Given the description of an element on the screen output the (x, y) to click on. 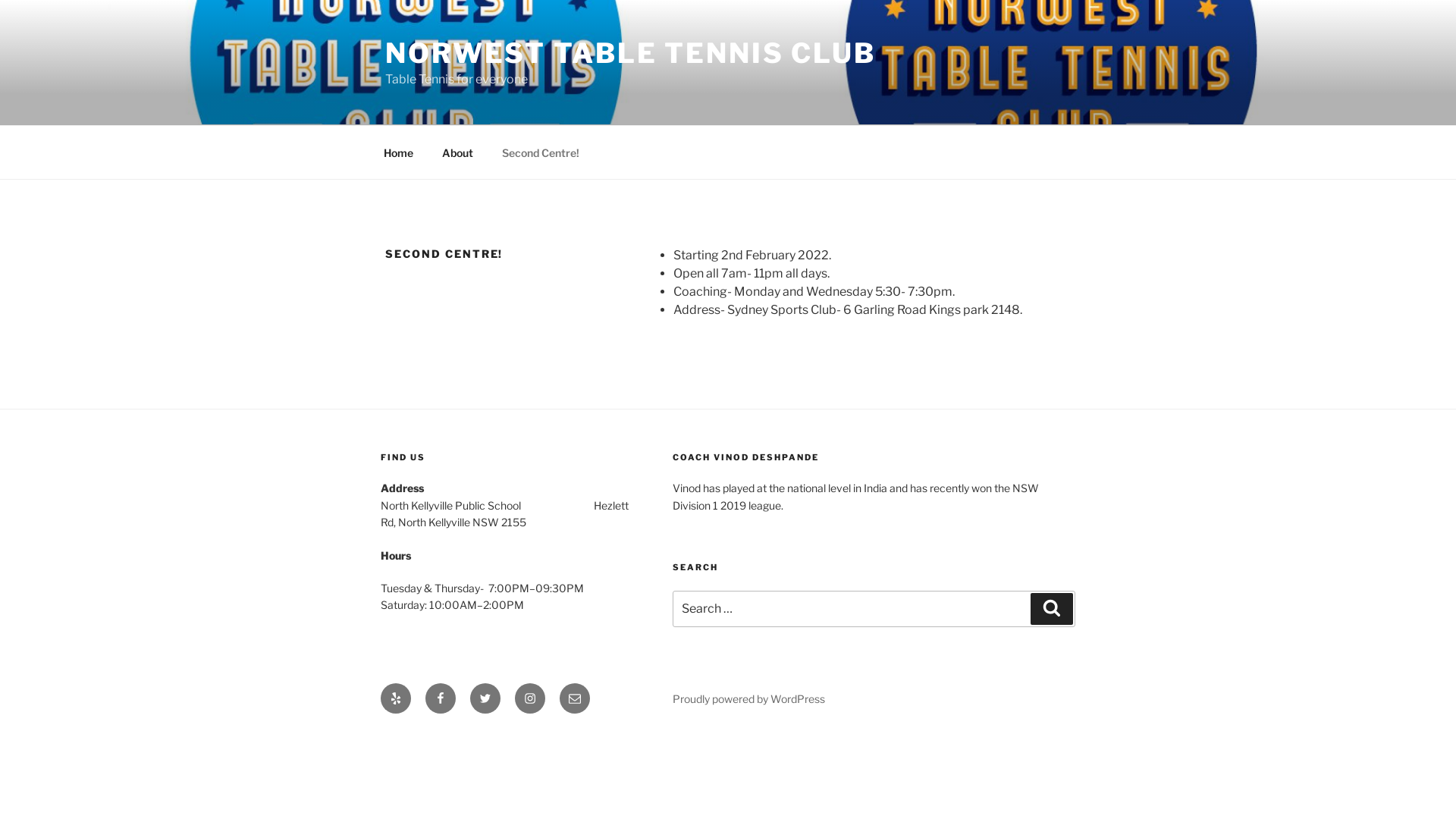
NORWEST TABLE TENNIS CLUB Element type: text (630, 52)
Email Element type: text (574, 698)
Search Element type: text (1051, 608)
Facebook Element type: text (440, 698)
Proudly powered by WordPress Element type: text (748, 698)
Yelp Element type: text (395, 698)
Home Element type: text (398, 151)
Second Centre! Element type: text (540, 151)
Instagram Element type: text (529, 698)
About Element type: text (457, 151)
Twitter Element type: text (485, 698)
